Given the description of an element on the screen output the (x, y) to click on. 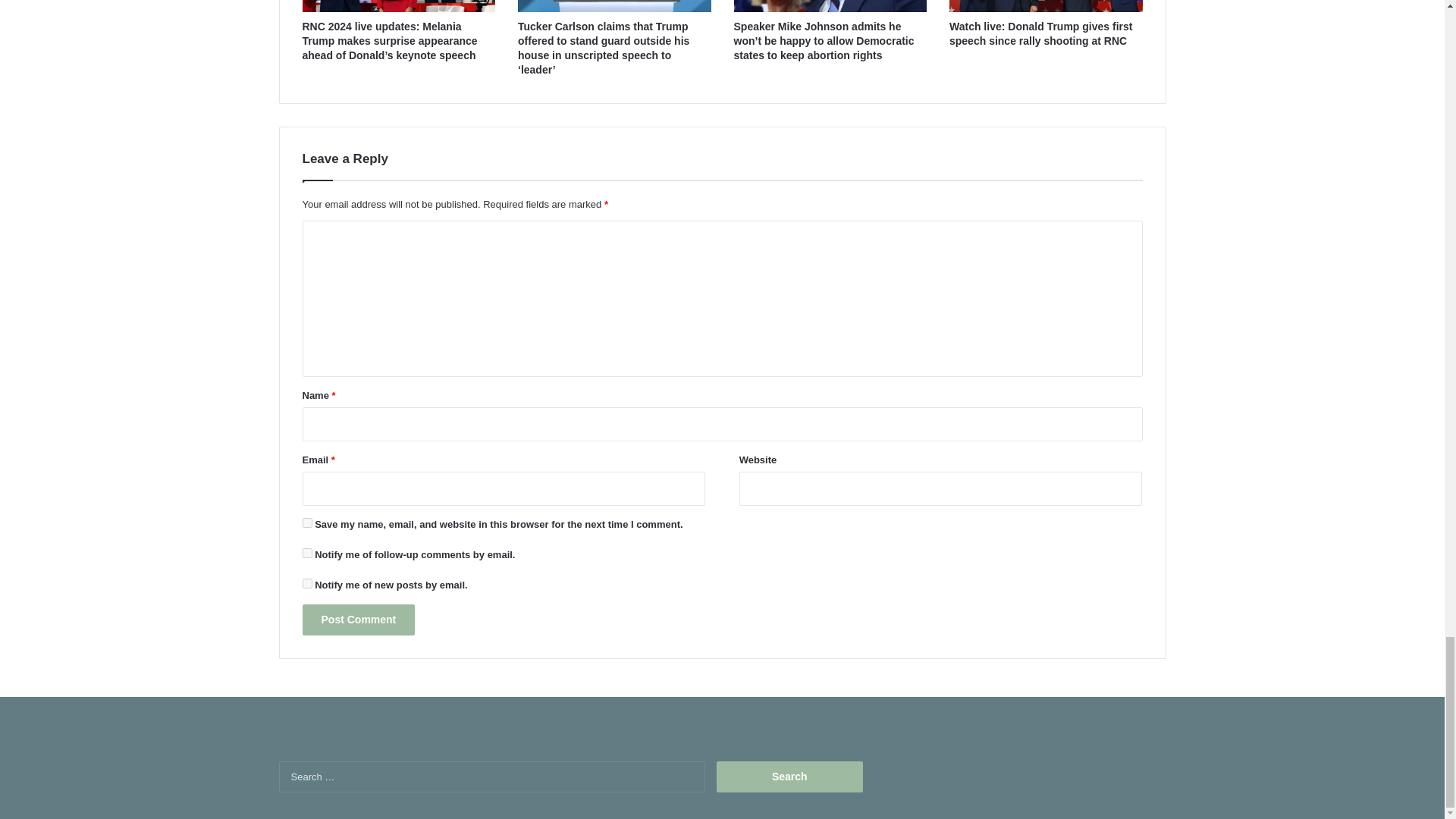
Post Comment (357, 619)
yes (306, 522)
Search (789, 776)
subscribe (306, 552)
subscribe (306, 583)
Search (789, 776)
